Given the description of an element on the screen output the (x, y) to click on. 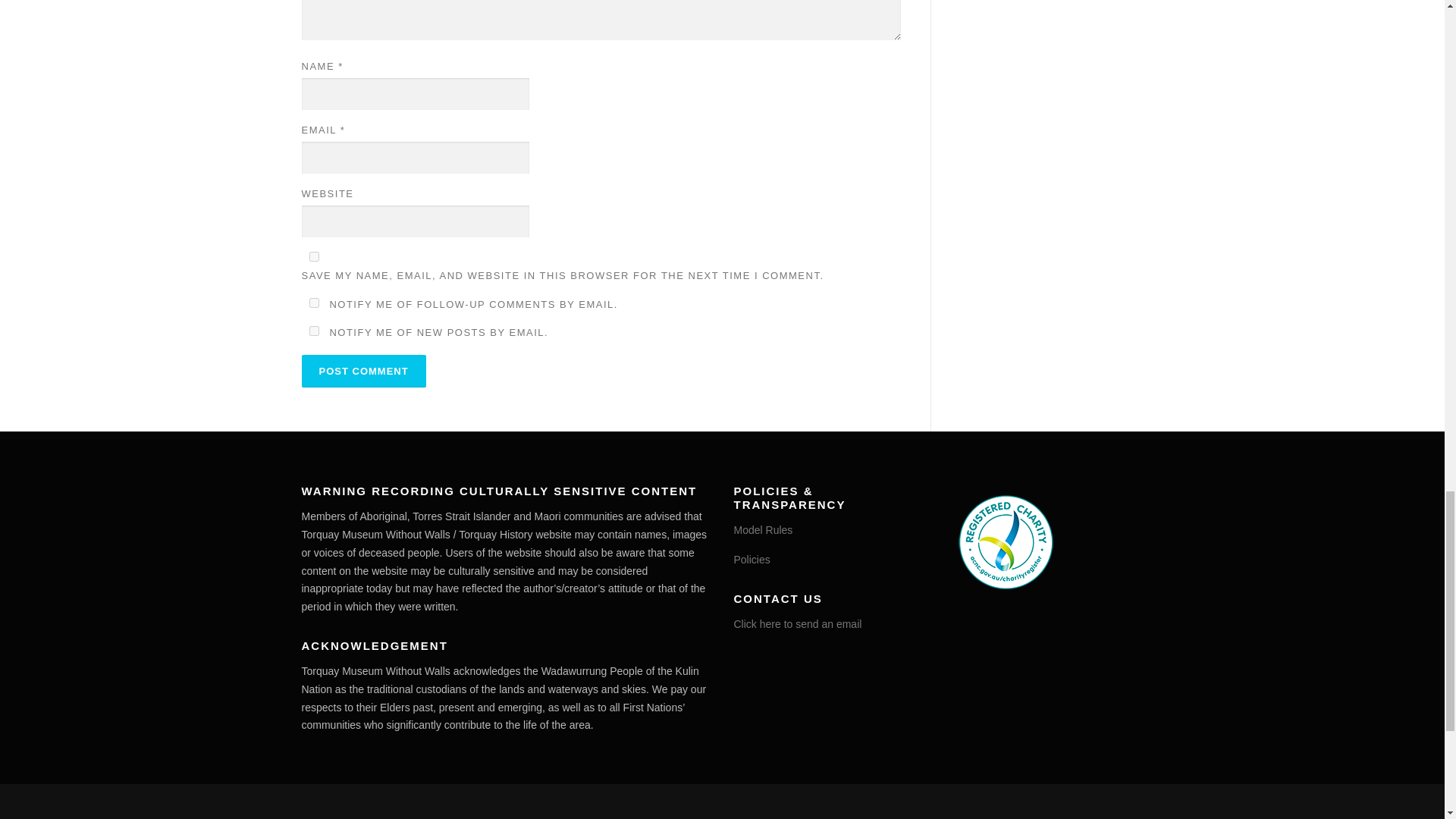
subscribe (313, 330)
subscribe (313, 302)
yes (313, 256)
Post Comment (363, 370)
Post Comment (363, 370)
